Given the description of an element on the screen output the (x, y) to click on. 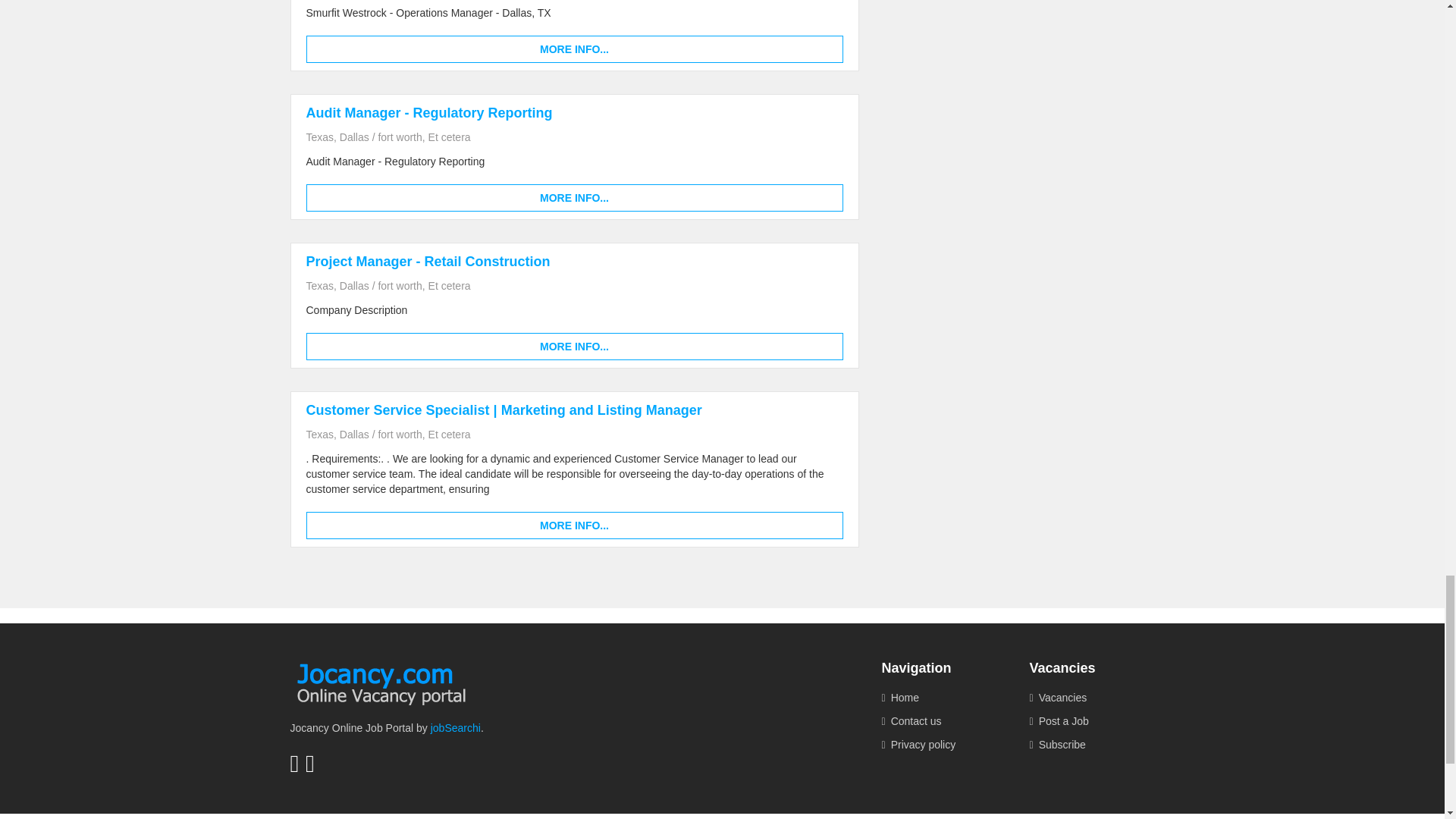
Texas (319, 285)
Et cetera (449, 137)
Texas (319, 137)
MORE INFO... (574, 49)
MORE INFO... (574, 197)
Audit Manager - Regulatory Reporting (429, 112)
Project Manager - Retail Construction (427, 261)
Et cetera (449, 285)
